Given the description of an element on the screen output the (x, y) to click on. 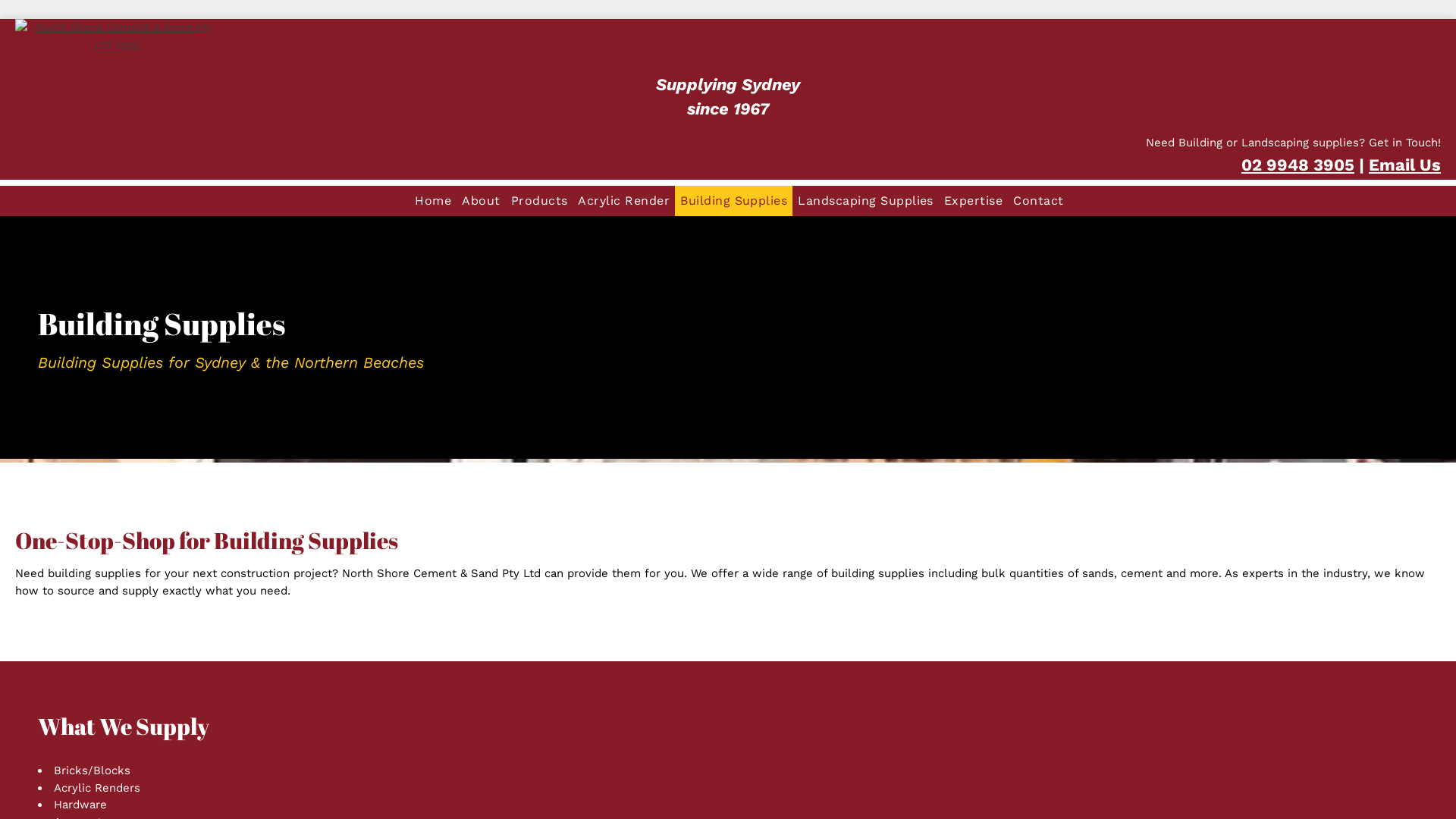
Building Supplies Element type: text (733, 200)
Products Element type: text (539, 200)
02 9948 3905 Element type: text (1297, 164)
Acrylic Render Element type: text (623, 200)
Home Element type: text (432, 200)
Expertise Element type: text (972, 200)
About Element type: text (480, 200)
Email Us Element type: text (1404, 164)
Landscaping Supplies Element type: text (865, 200)
Contact Element type: text (1037, 200)
